Given the description of an element on the screen output the (x, y) to click on. 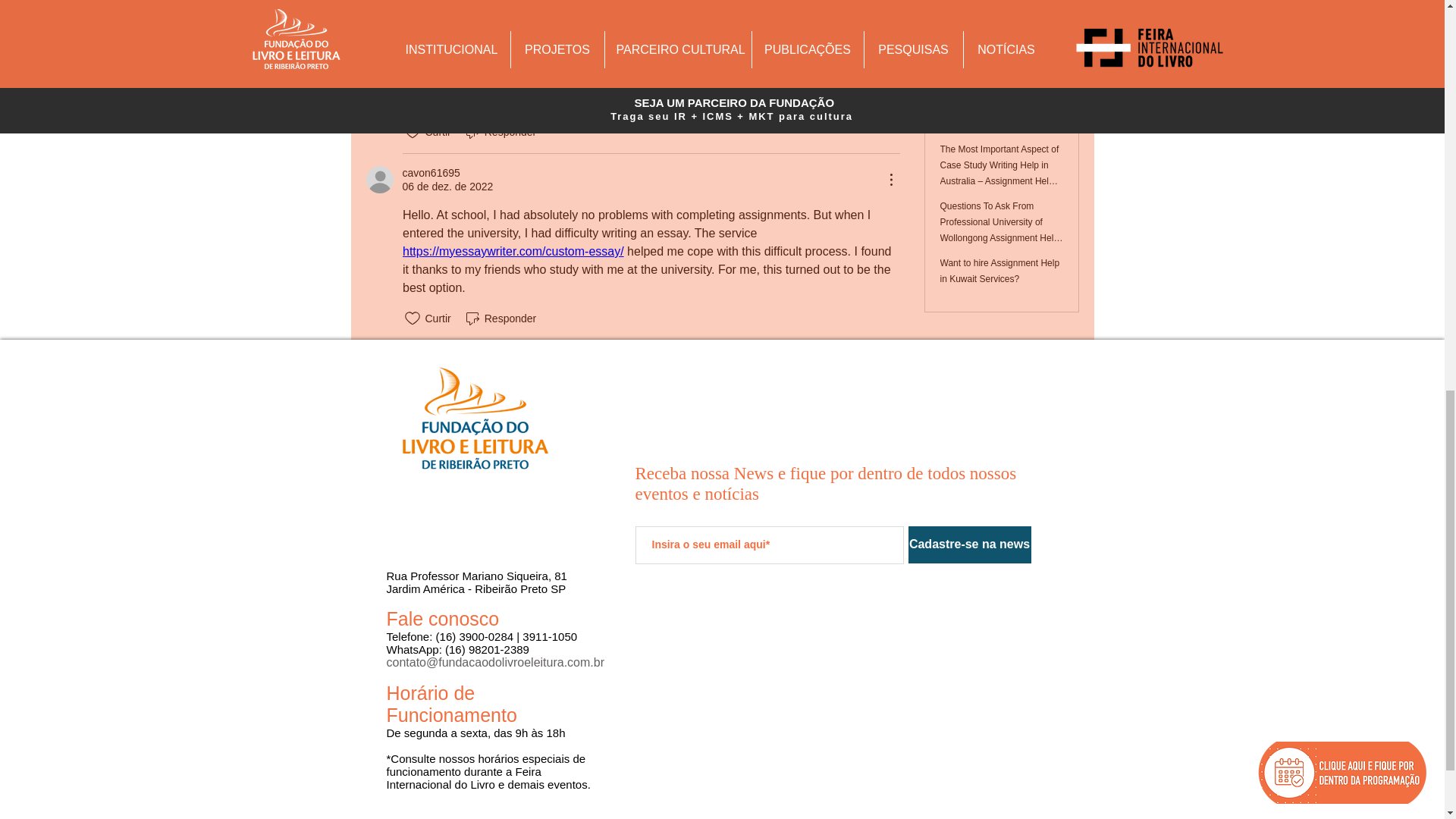
Responder (500, 318)
HRM Case Study Help (569, 51)
Responder (500, 131)
Case Study Help Services (644, 75)
jamiemarc67 (379, 7)
cavon61695 (430, 173)
jamiemarc67 (432, 0)
